Given the description of an element on the screen output the (x, y) to click on. 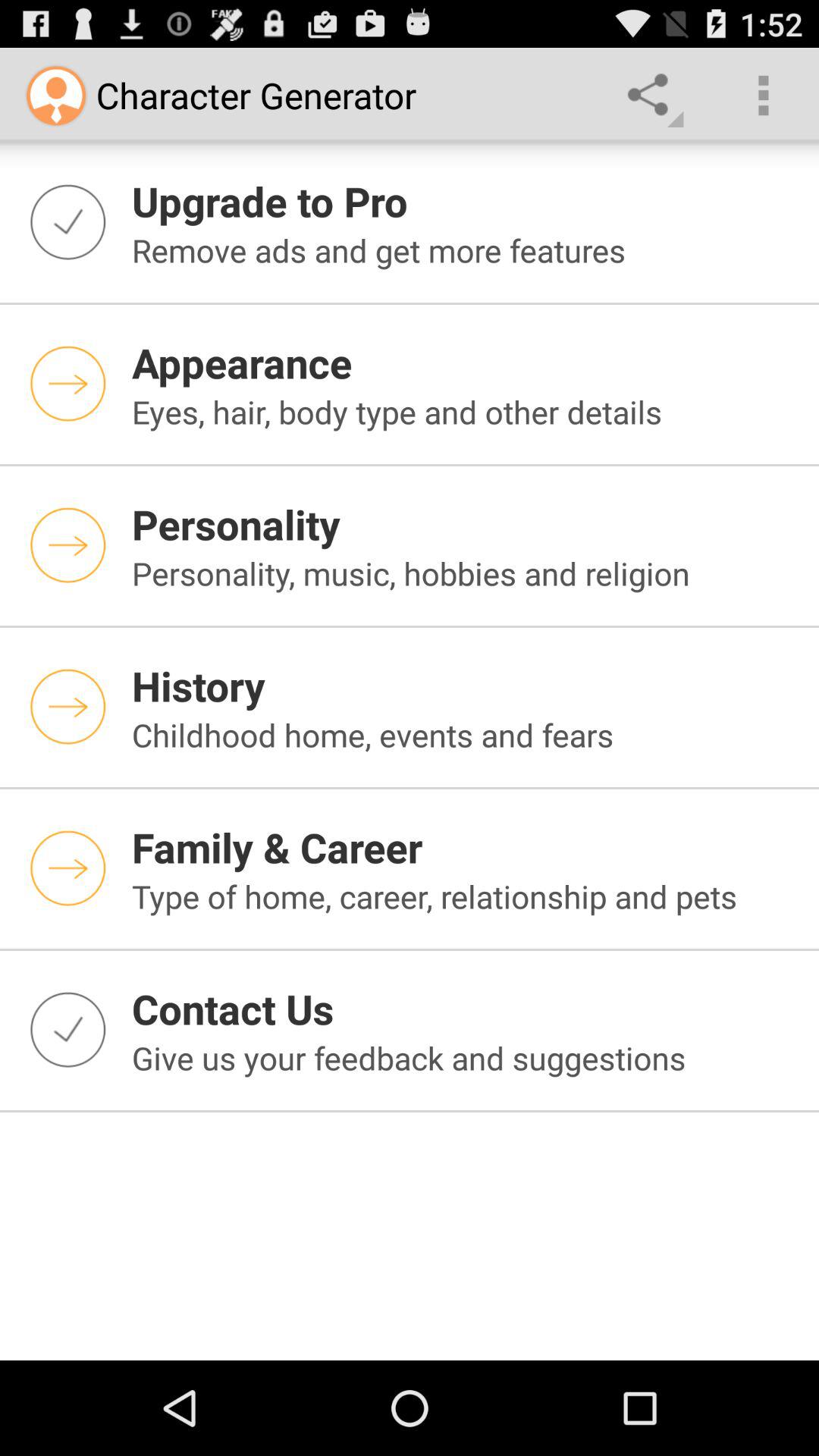
choose the icon above personality icon (465, 411)
